Given the description of an element on the screen output the (x, y) to click on. 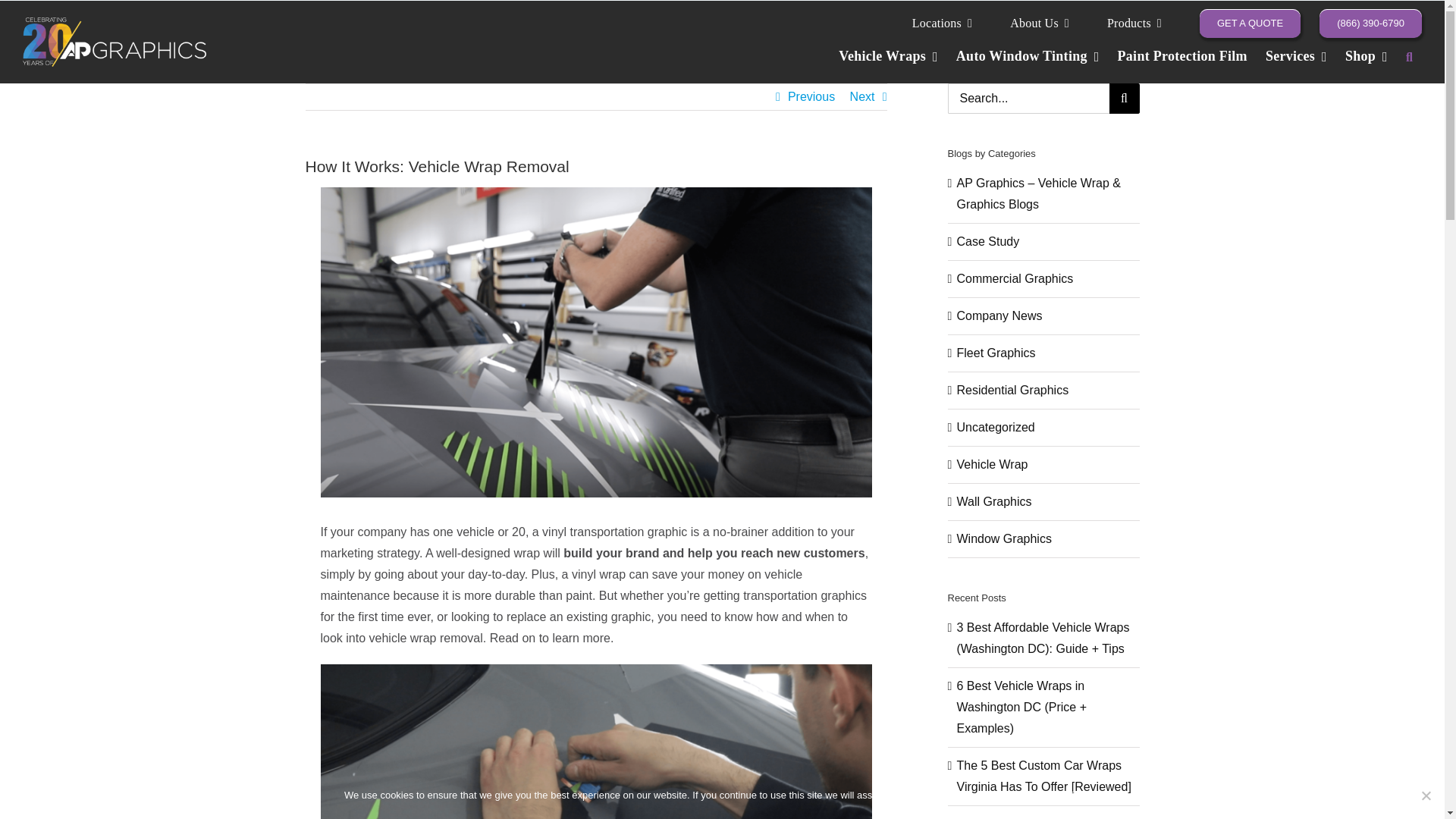
Locations (942, 22)
Deny (1425, 795)
Vehicle Wraps (887, 64)
About Us (1039, 22)
Products (1133, 22)
GET A QUOTE (1249, 22)
vehicle-wrap-removal-how-it-works (595, 741)
